Given the description of an element on the screen output the (x, y) to click on. 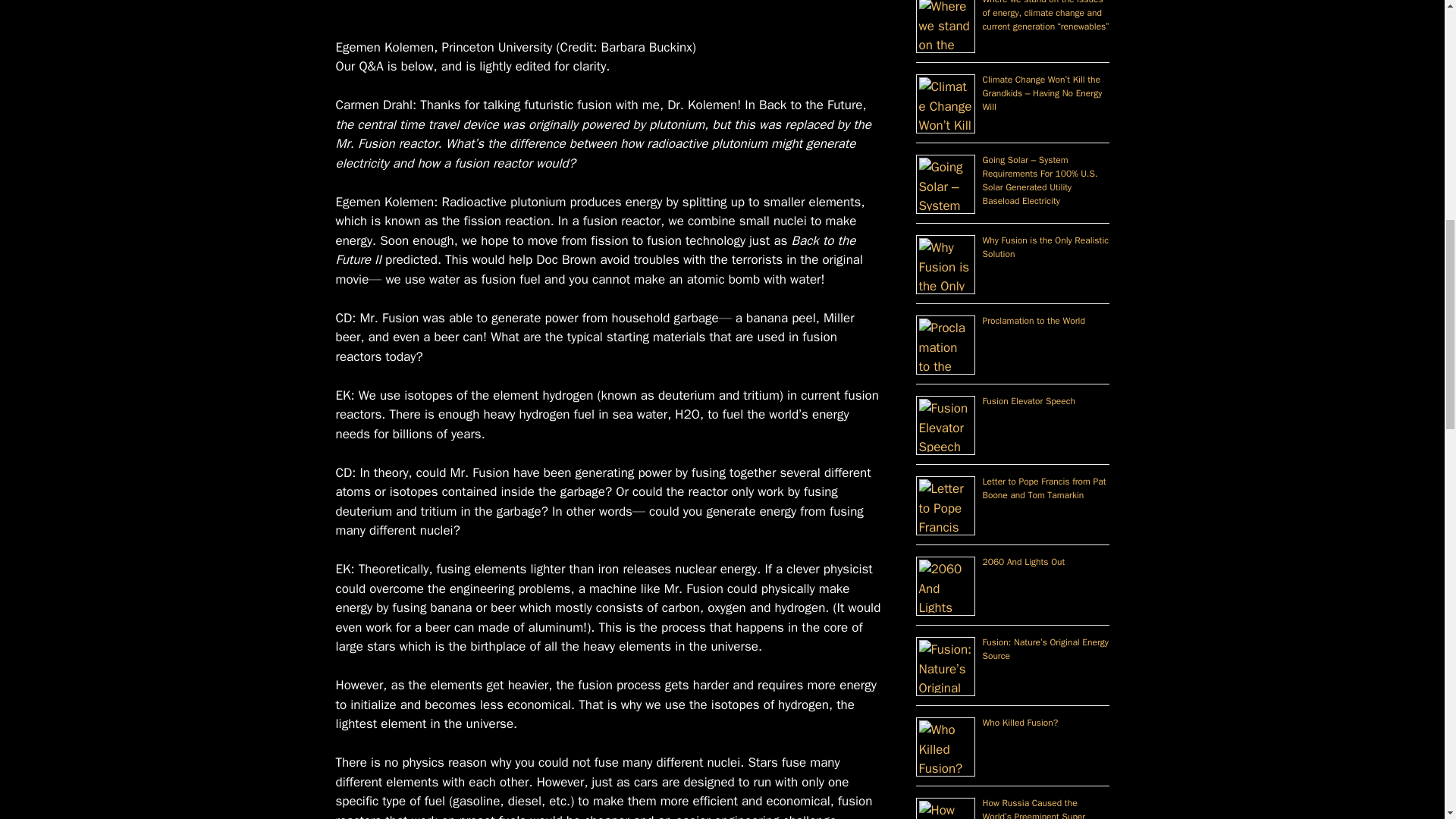
Scroll back to top (1406, 720)
